Given the description of an element on the screen output the (x, y) to click on. 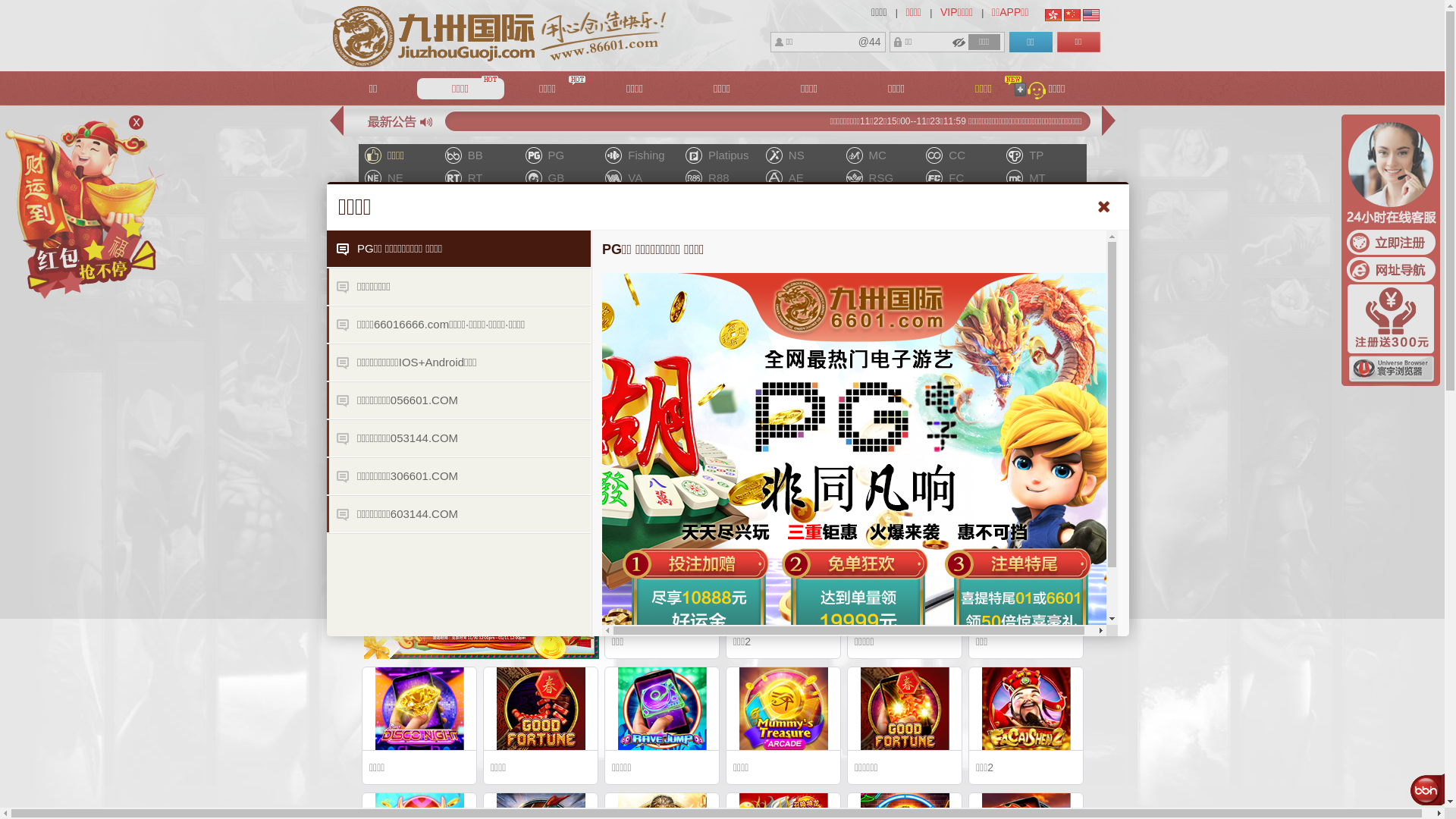
English Element type: hover (1090, 15)
